Given the description of an element on the screen output the (x, y) to click on. 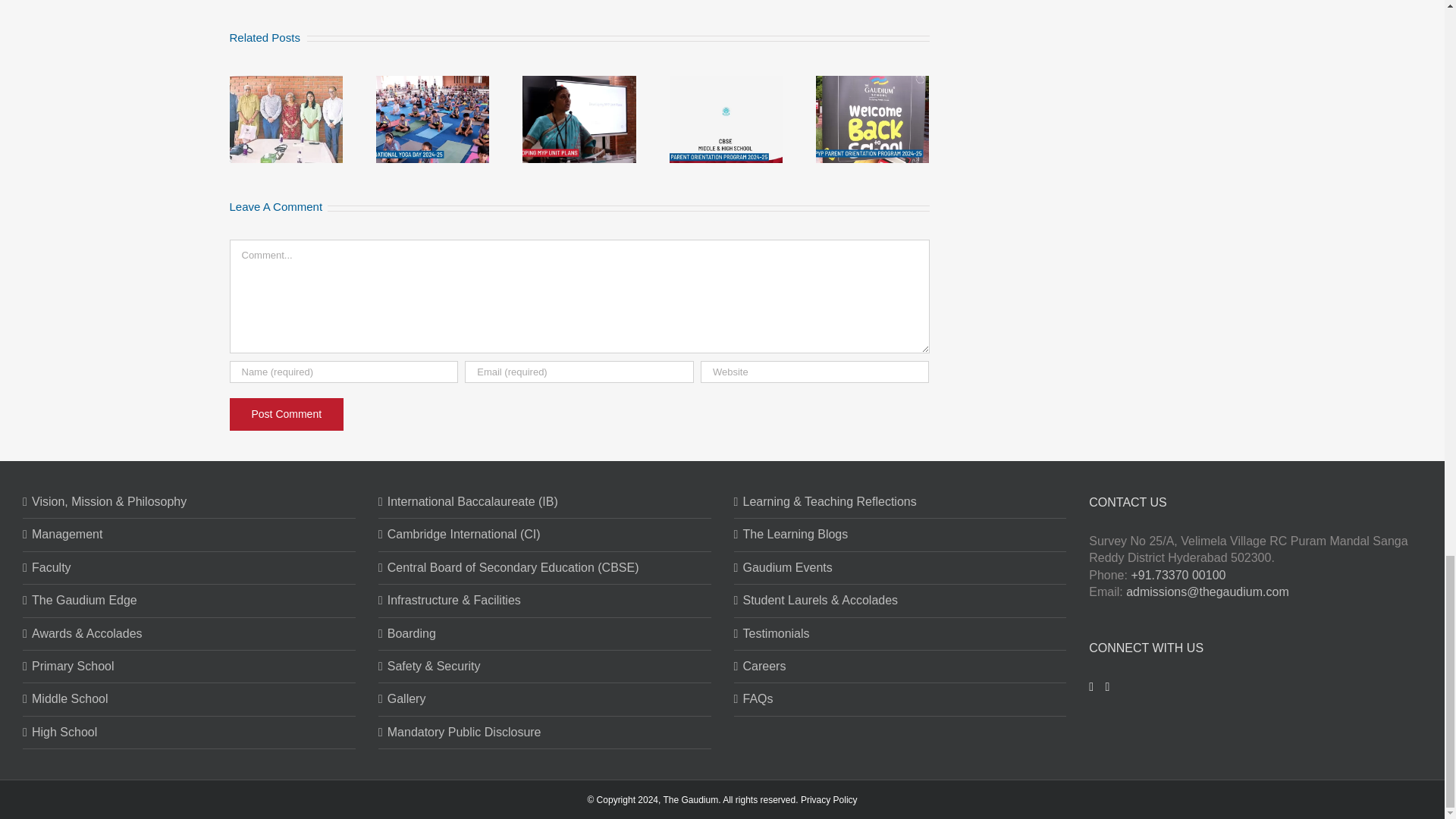
Post Comment (285, 414)
